Given the description of an element on the screen output the (x, y) to click on. 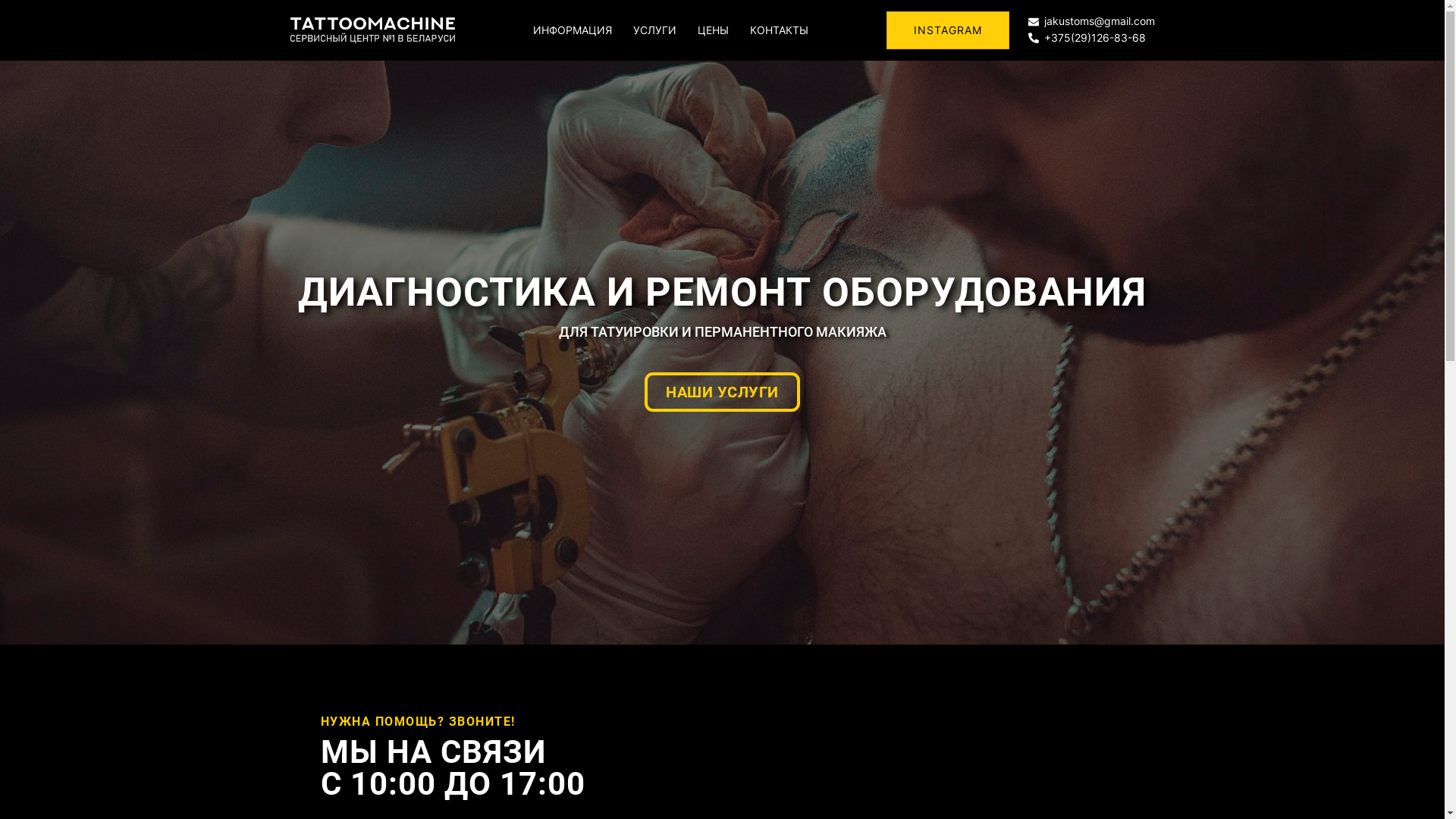
INSTAGRAM Element type: text (946, 30)
jakustoms@gmail.com Element type: text (1091, 21)
+375(29)126-83-68 Element type: text (1091, 37)
TATTOOMACHINE.BY Element type: hover (371, 28)
